Given the description of an element on the screen output the (x, y) to click on. 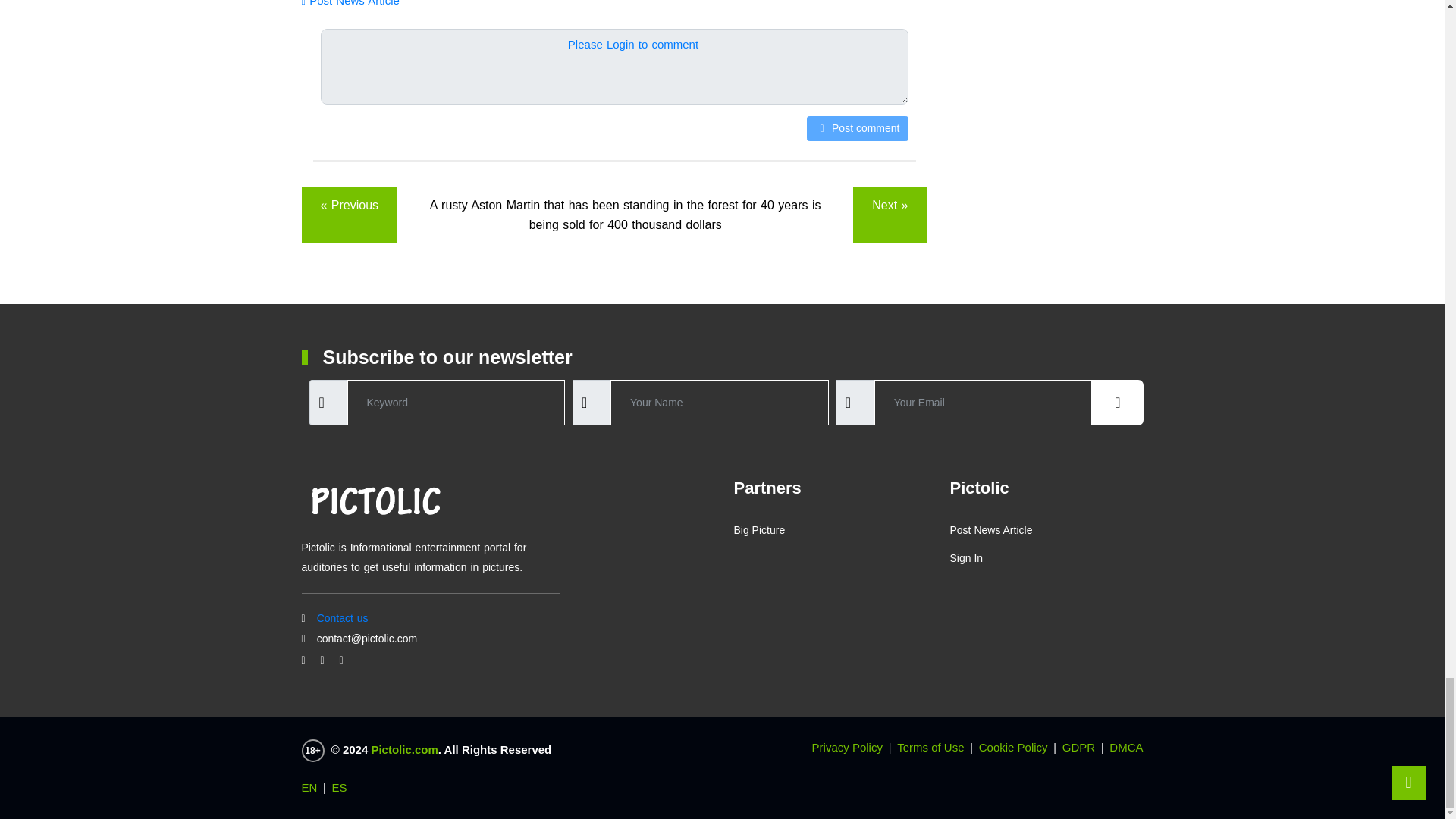
Please Login to comment (632, 44)
Post comment (856, 128)
Post News Article (349, 3)
